Given the description of an element on the screen output the (x, y) to click on. 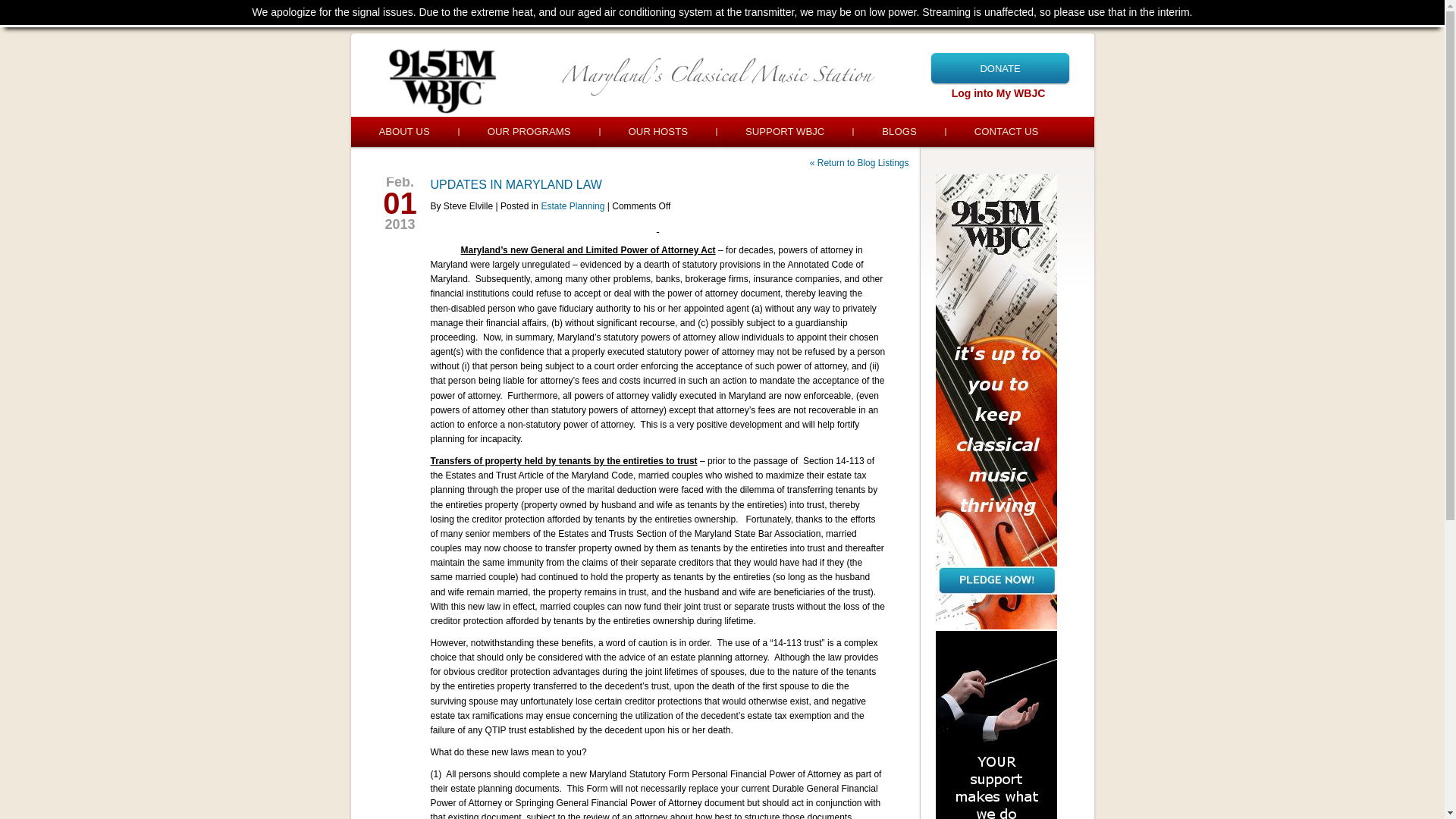
Log into My WBJC (997, 93)
Permanent Link to Updates in Maryland Law (516, 184)
ABOUT US (403, 132)
DONATE (1000, 68)
OUR HOSTS (657, 132)
SUPPORT WBJC (784, 132)
OUR PROGRAMS (529, 132)
